Given the description of an element on the screen output the (x, y) to click on. 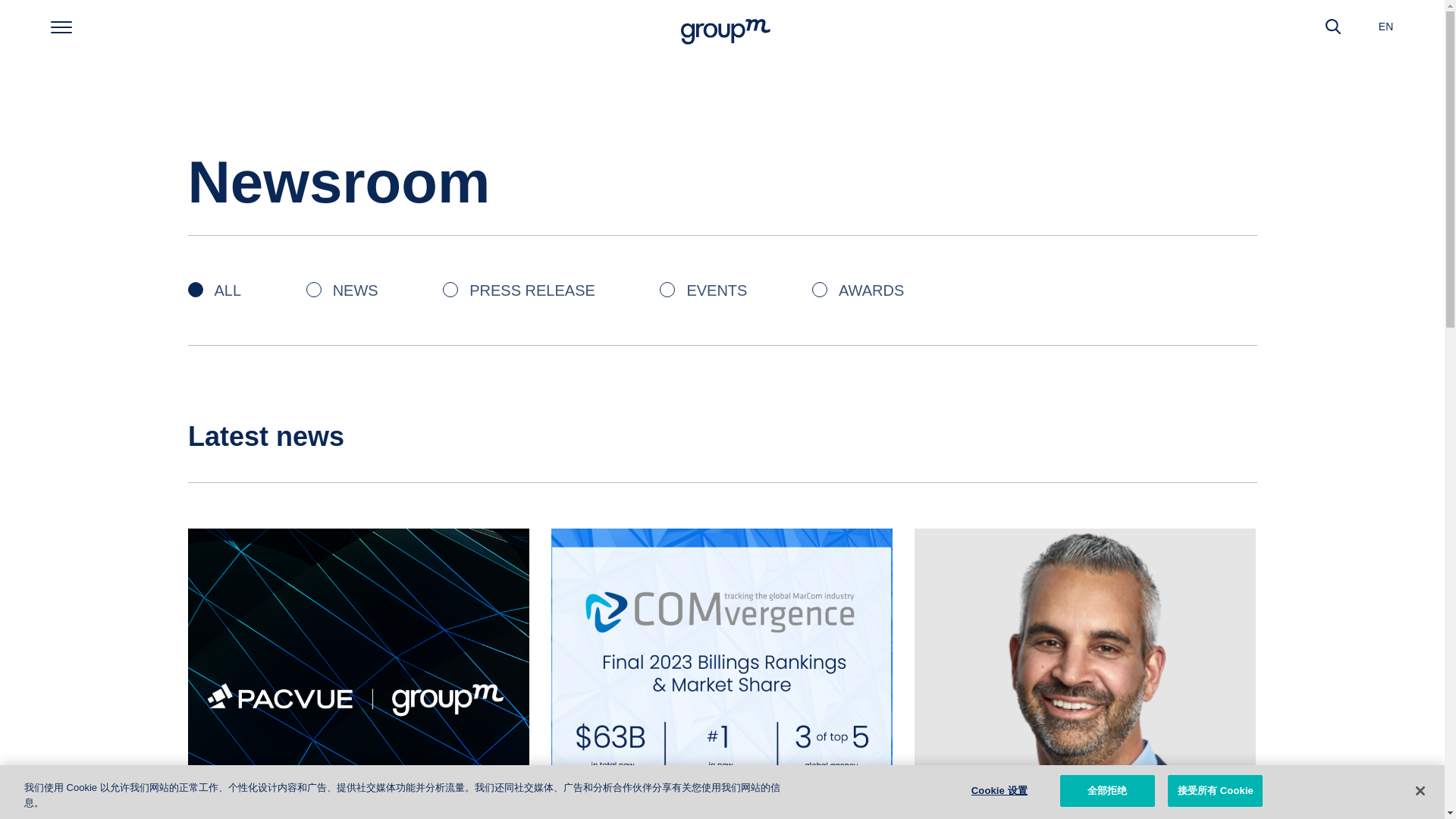
PRESS RELEASE (518, 290)
EN (1385, 26)
NEWS (341, 290)
EVENTS (702, 290)
ALL (214, 290)
AWARDS (858, 290)
